Given the description of an element on the screen output the (x, y) to click on. 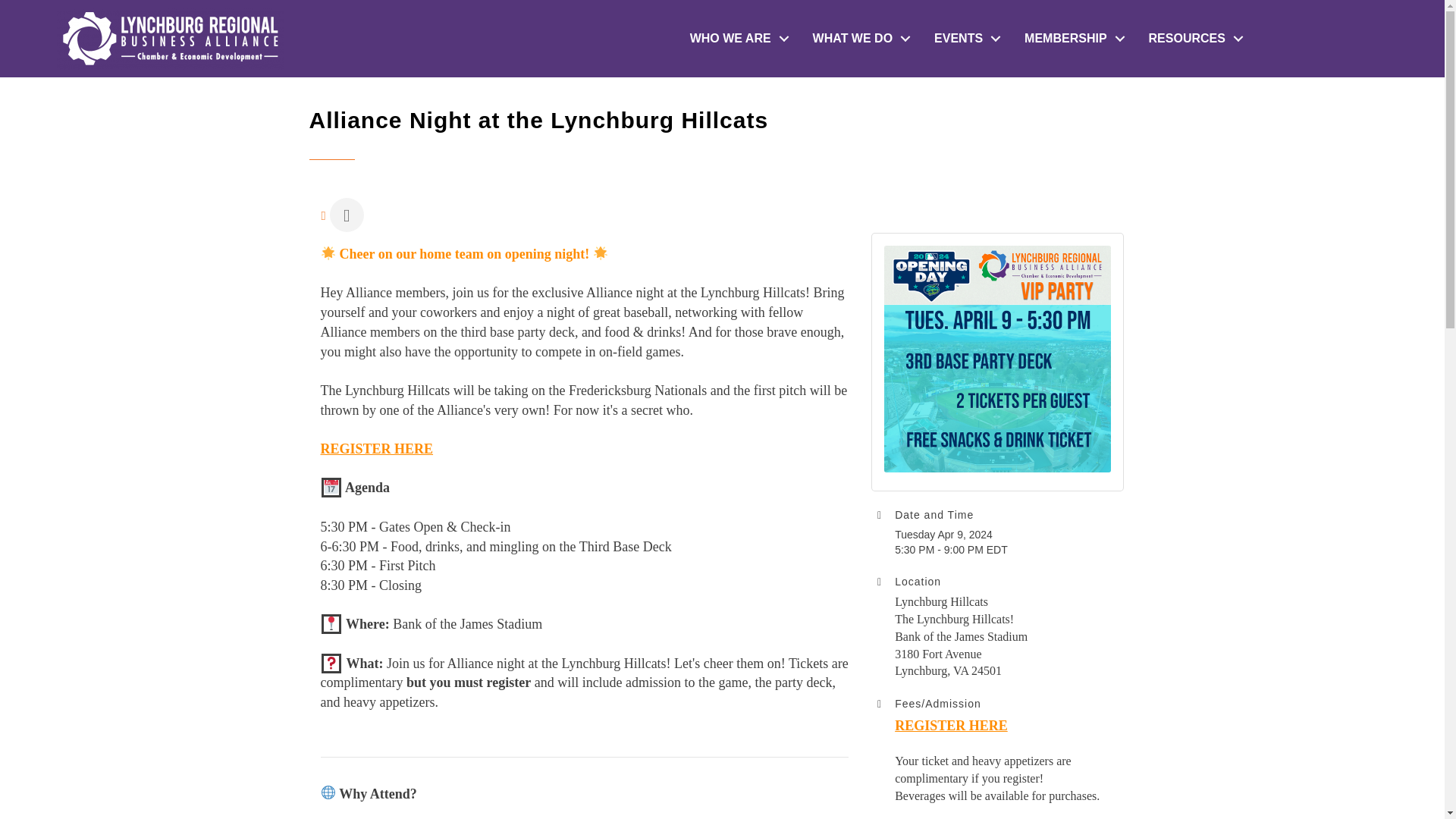
White Transpancyhorizontal (169, 38)
EVENTS (963, 38)
WHO WE ARE (735, 38)
WHAT WE DO (857, 38)
